Given the description of an element on the screen output the (x, y) to click on. 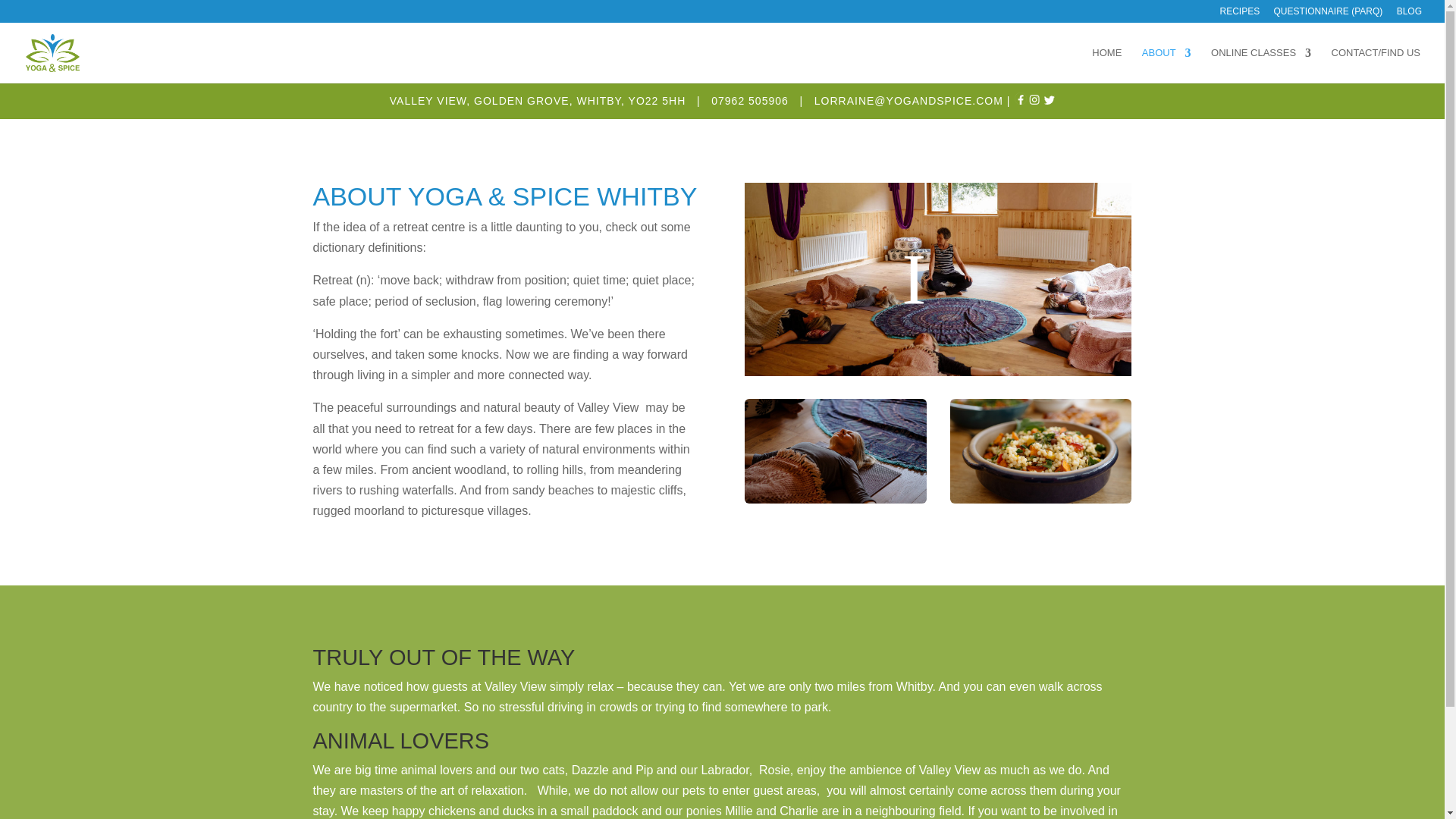
yoga-landscape-4 (835, 451)
RECIPES (1239, 14)
yoga-landscape-3 (1040, 451)
BLOG (1409, 14)
ONLINE CLASSES (1261, 65)
ABOUT (1166, 65)
